Given the description of an element on the screen output the (x, y) to click on. 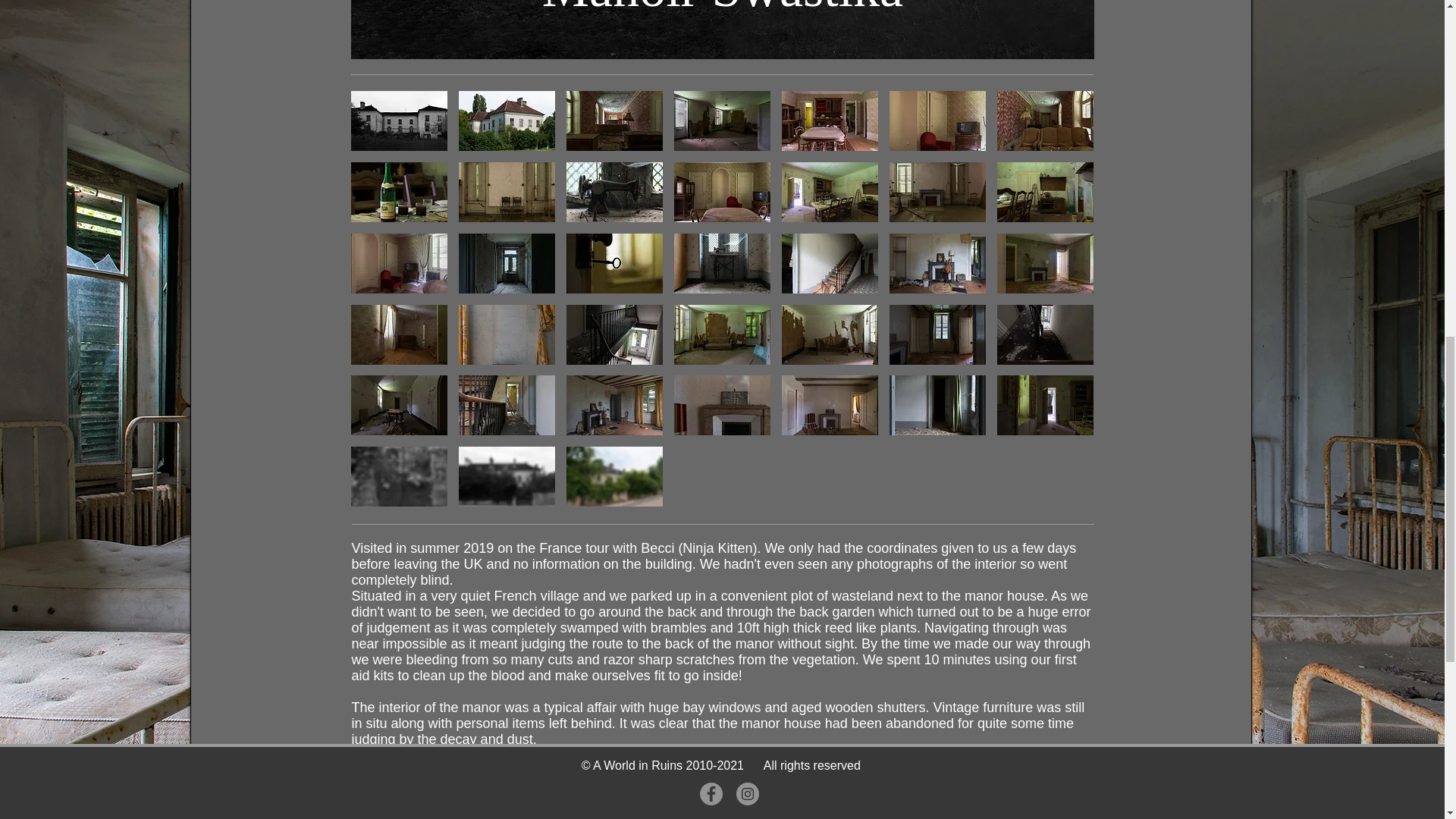
manoir swastika, france (721, 29)
